Given the description of an element on the screen output the (x, y) to click on. 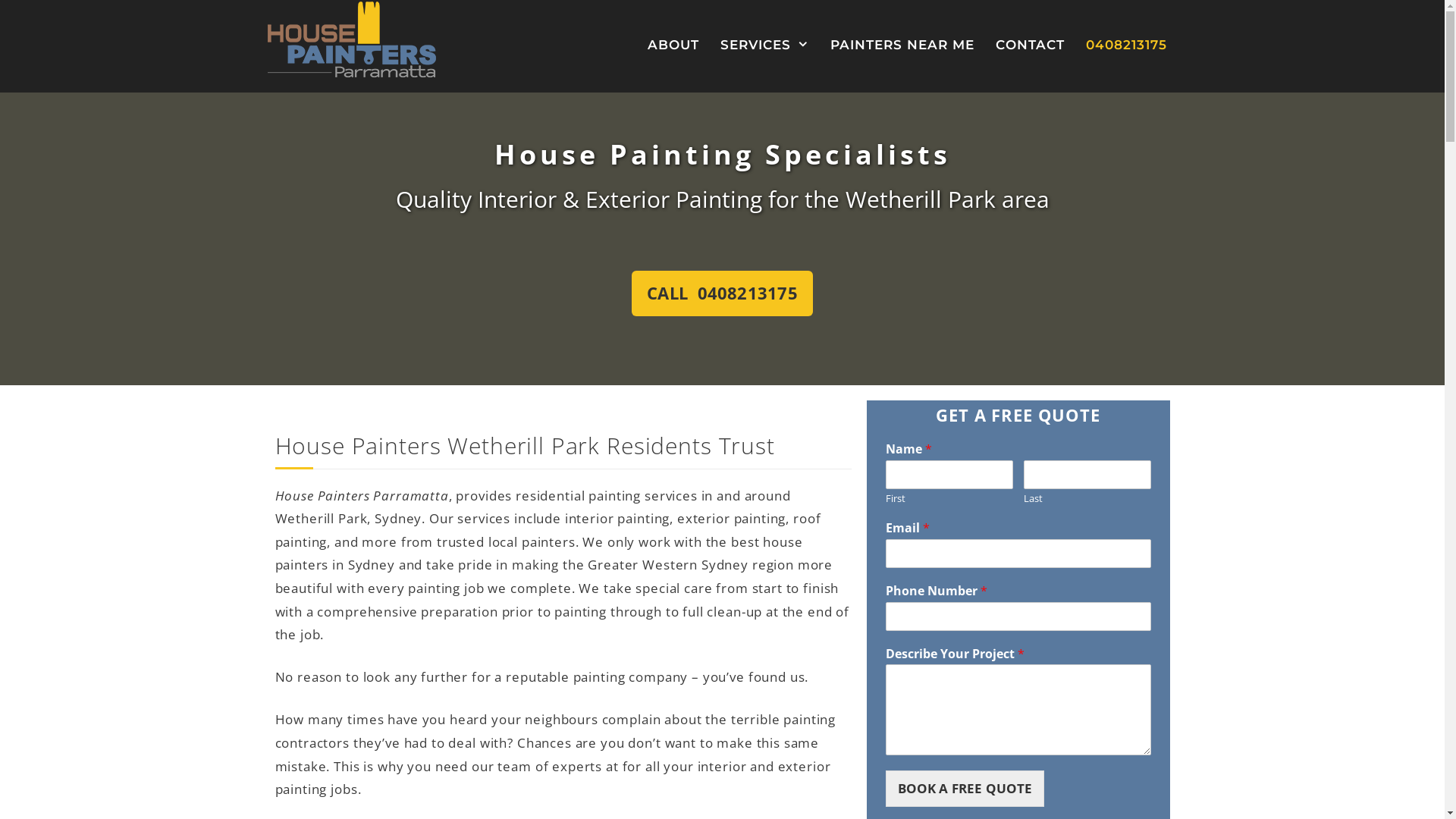
SERVICES Element type: text (764, 44)
BOOK A FREE QUOTE Element type: text (964, 788)
House Painters Parramatta Element type: hover (350, 39)
PAINTERS NEAR ME Element type: text (901, 44)
0408213175 Element type: text (1126, 44)
House Painters Parramatta Element type: hover (350, 38)
ABOUT Element type: text (673, 44)
CALL  0408213175 Element type: text (721, 293)
CONTACT Element type: text (1029, 44)
